Given the description of an element on the screen output the (x, y) to click on. 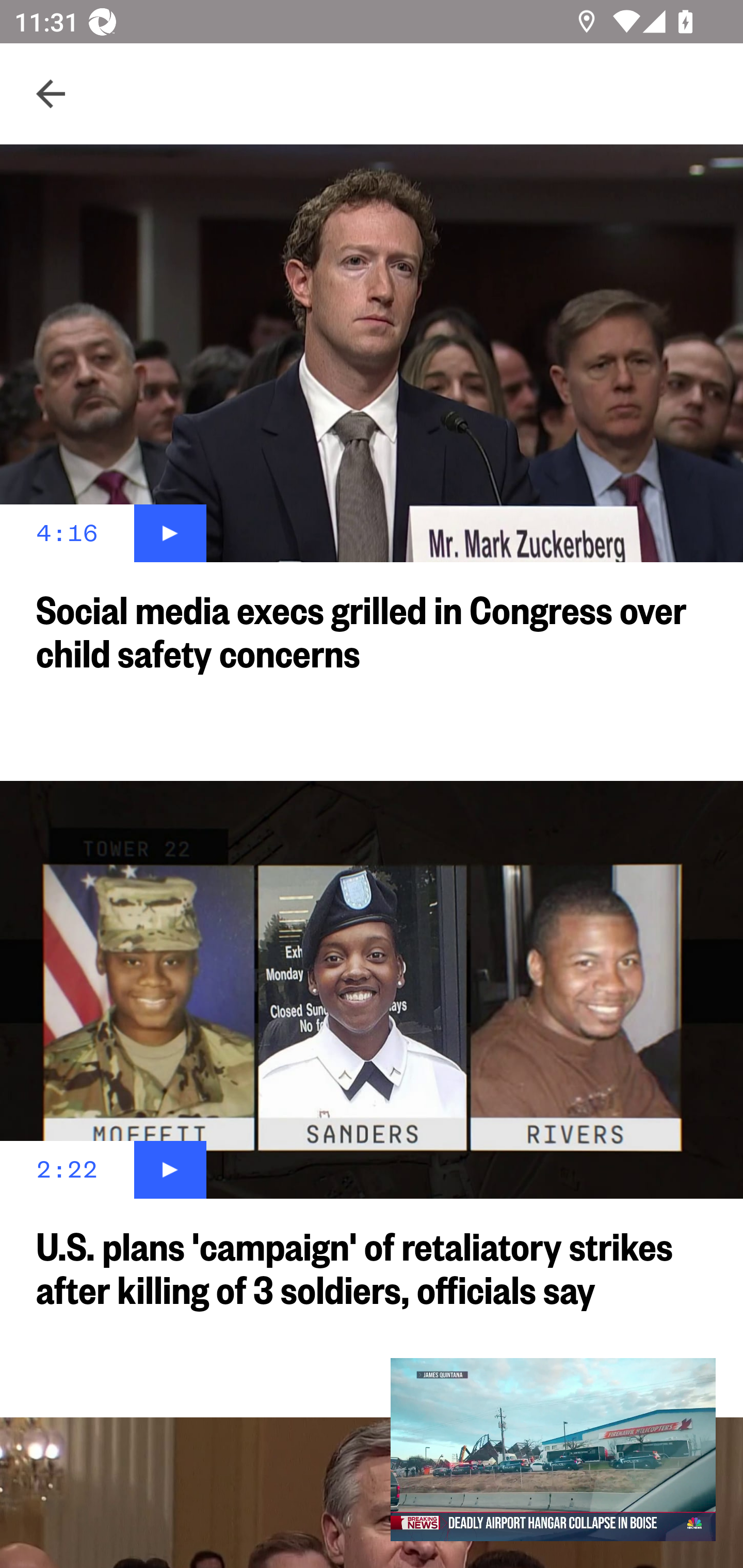
Navigate up (50, 93)
